Given the description of an element on the screen output the (x, y) to click on. 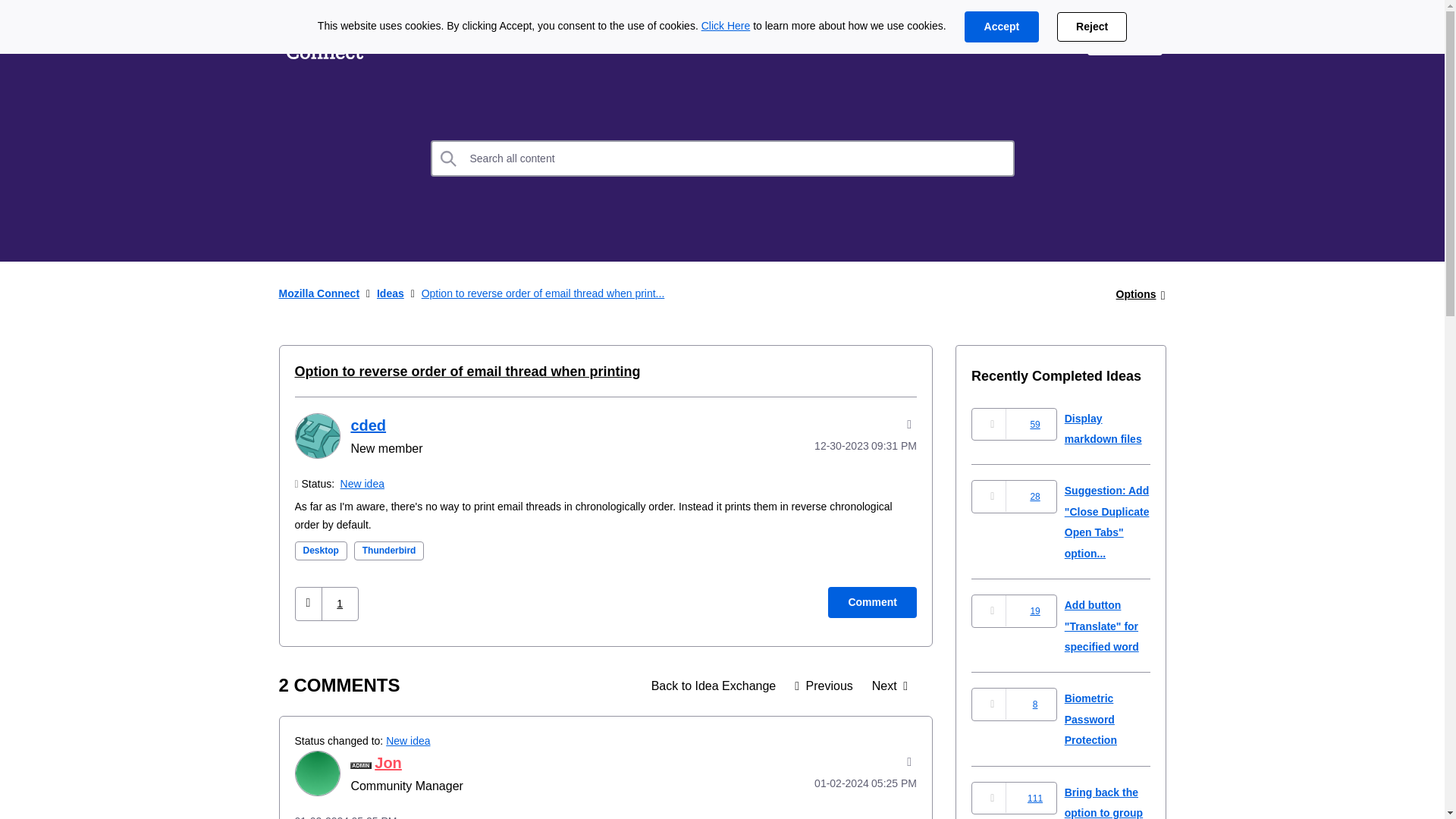
Search (448, 158)
Mozilla Connect (324, 39)
Option to reverse order of email thread when printing (467, 371)
Community (607, 39)
Click here to give kudos to this post. (307, 603)
Ideas (714, 685)
Community Manager (360, 765)
Sign In (1124, 39)
1 (339, 603)
cded (316, 435)
Accept (1001, 26)
New idea (362, 483)
Ideas (411, 39)
Support (1040, 39)
